Given the description of an element on the screen output the (x, y) to click on. 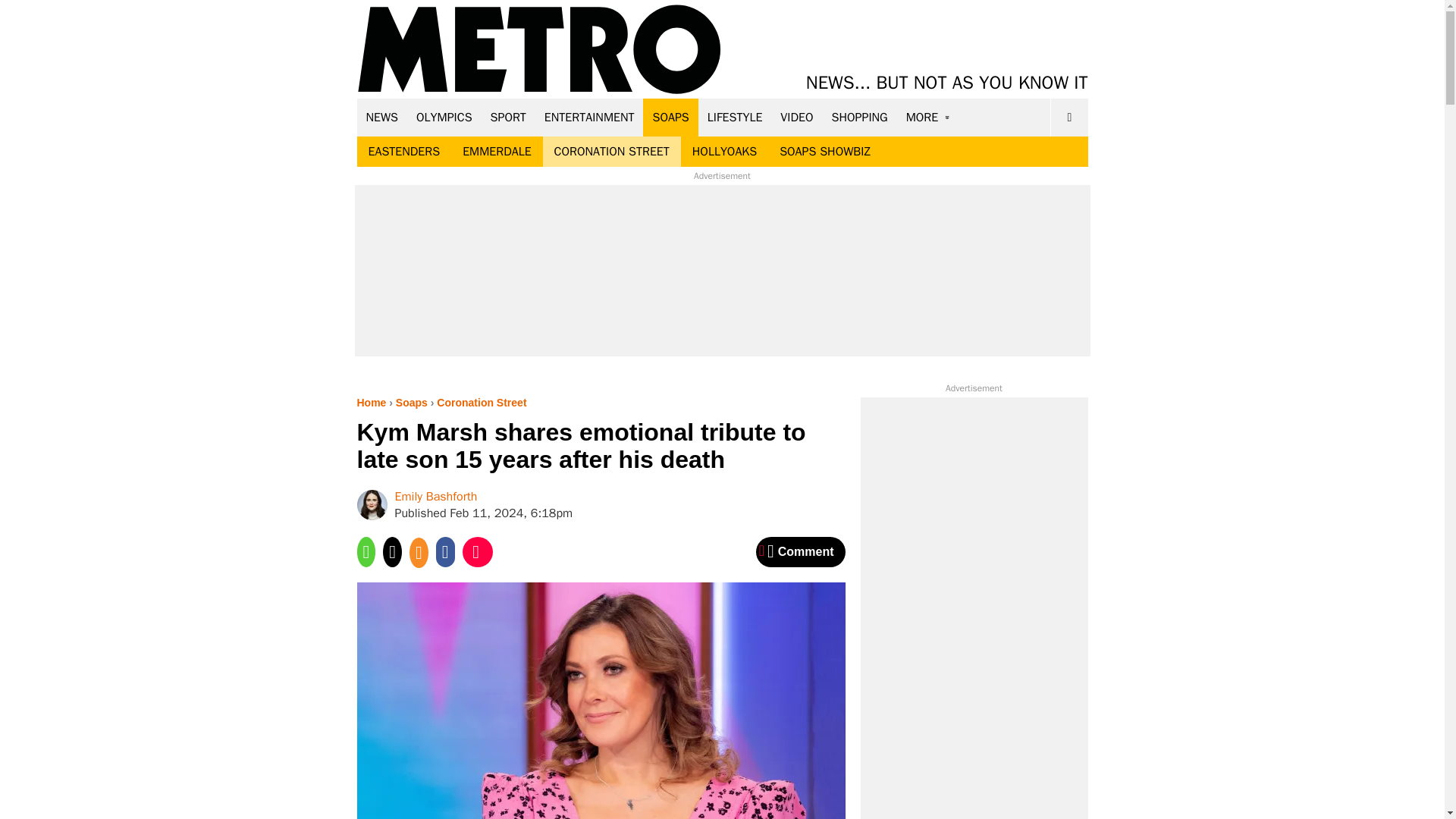
ENTERTAINMENT (589, 117)
EASTENDERS (403, 151)
Metro (539, 50)
EMMERDALE (496, 151)
SOAPS (670, 117)
SPORT (508, 117)
SOAPS SHOWBIZ (825, 151)
OLYMPICS (444, 117)
CORONATION STREET (612, 151)
HOLLYOAKS (724, 151)
LIFESTYLE (734, 117)
NEWS (381, 117)
